Given the description of an element on the screen output the (x, y) to click on. 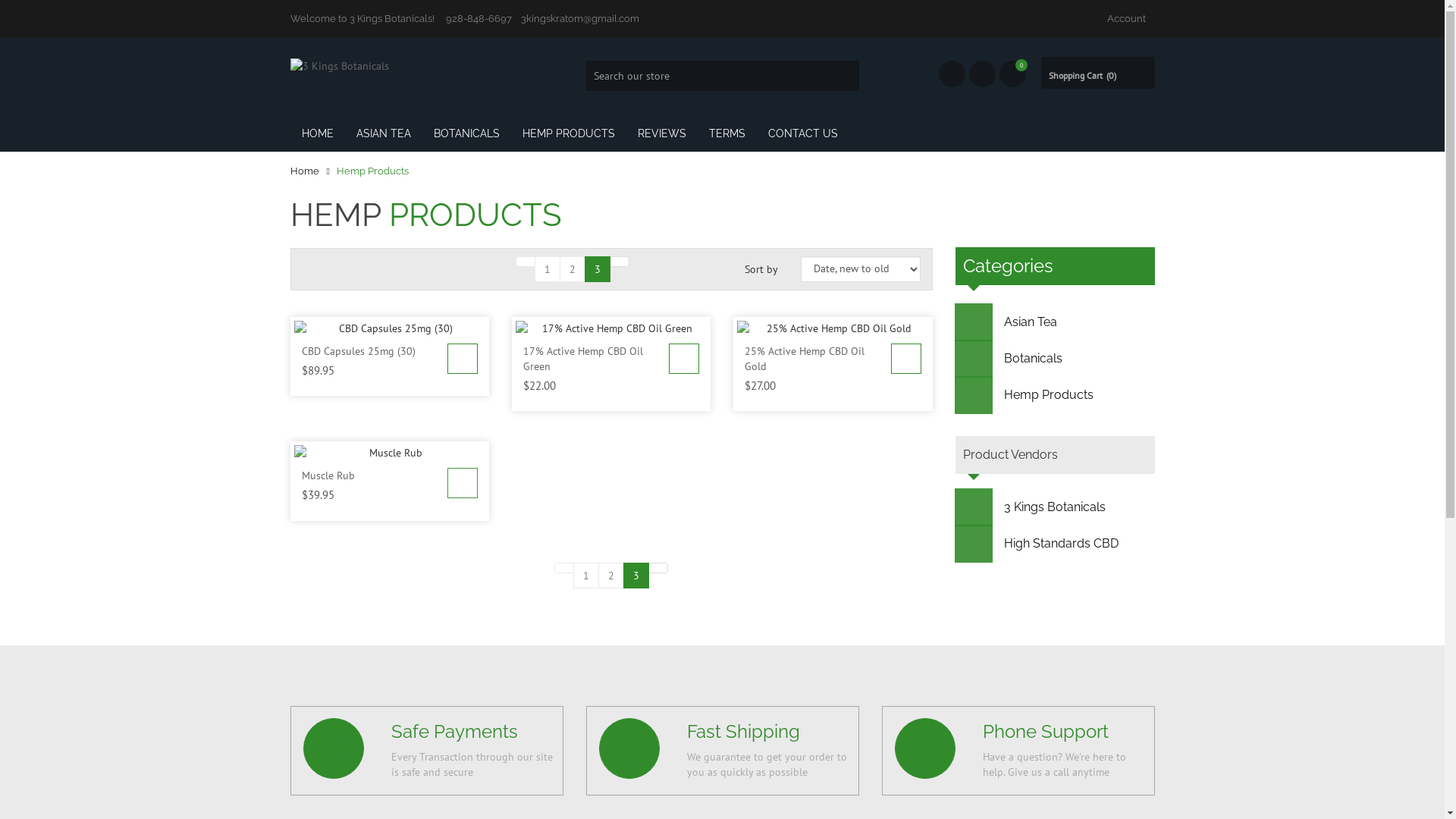
1 Element type: text (547, 269)
Register Element type: hover (951, 73)
Wishlist Element type: hover (1012, 73)
  Account Element type: text (1124, 18)
1 Element type: text (586, 575)
CONTACT US Element type: text (802, 132)
Add to Cart Element type: text (683, 358)
Hemp Products Element type: text (1054, 394)
Muscle Rub Element type: text (327, 475)
ASIAN TEA Element type: text (382, 132)
Shopping Cart
(0) Element type: text (1097, 75)
Add to Cart Element type: text (462, 358)
TERMS Element type: text (726, 132)
Login Element type: hover (982, 73)
Add to Cart Element type: hover (462, 358)
Add to Cart Element type: text (906, 358)
HOME Element type: text (316, 132)
Botanicals Element type: text (1054, 358)
BOTANICALS Element type: text (465, 132)
25% Active Hemp CBD Oil Gold Element type: text (804, 358)
Asian Tea Element type: text (1054, 322)
3 Kings Botanicals Element type: text (1054, 507)
2 Element type: text (611, 575)
High Standards CBD Element type: text (1054, 543)
3 Element type: text (597, 269)
Select Options Element type: hover (462, 482)
REVIEWS Element type: text (661, 132)
2 Element type: text (572, 269)
Add to Cart Element type: hover (906, 358)
CBD Capsules 25mg (30) Element type: text (358, 350)
3 Element type: text (636, 575)
HEMP PRODUCTS Element type: text (568, 132)
Home Element type: text (303, 170)
Add to Cart Element type: hover (683, 358)
17% Active Hemp CBD Oil Green Element type: text (583, 358)
